Given the description of an element on the screen output the (x, y) to click on. 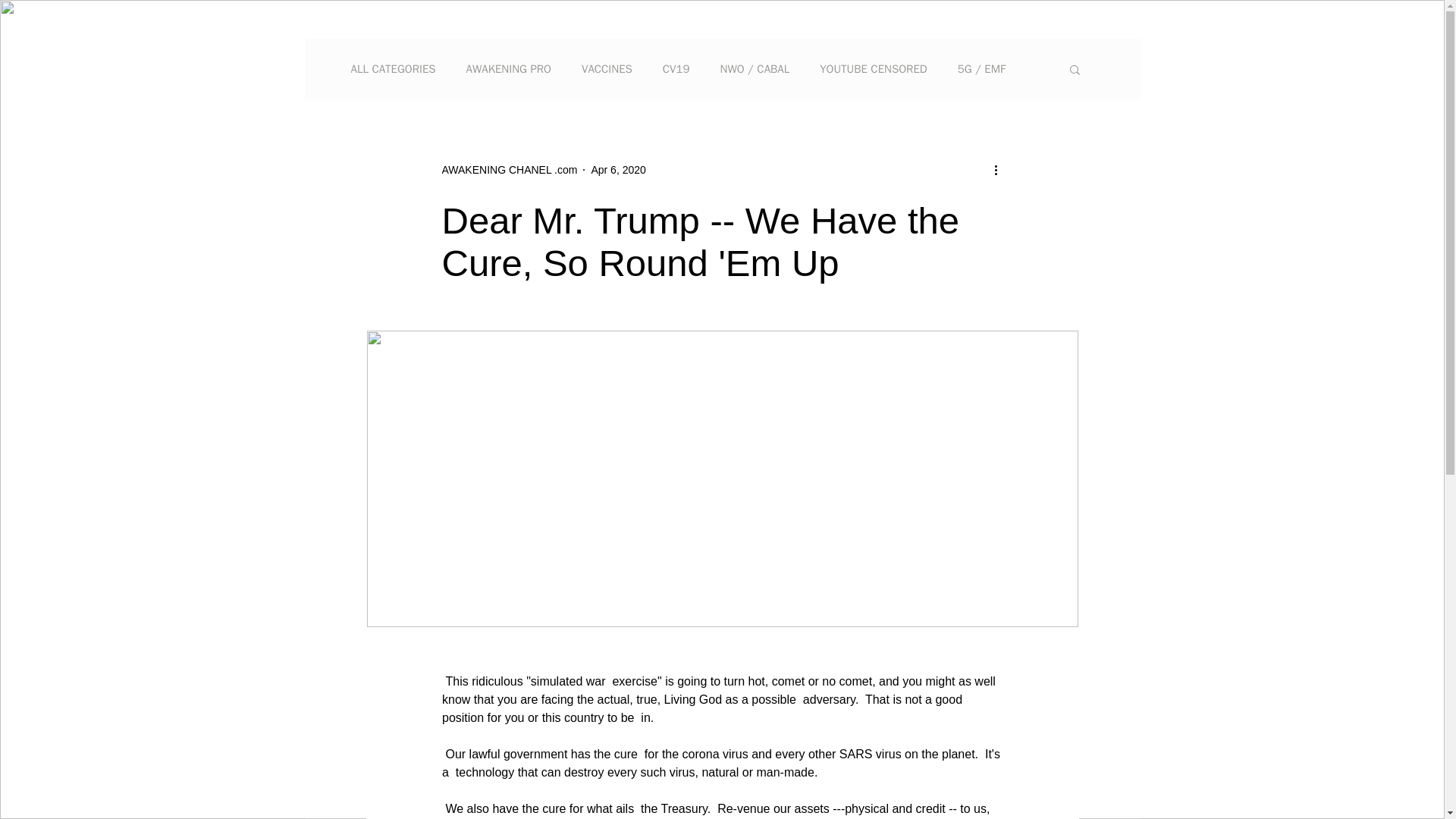
AWAKENING CHANEL .com (508, 170)
Apr 6, 2020 (618, 169)
VACCINES (605, 69)
AWAKENING PRO (508, 69)
AWAKENING CHANEL .com (508, 170)
CV19 (676, 69)
YOUTUBE CENSORED (872, 69)
ALL CATEGORIES (392, 69)
